Given the description of an element on the screen output the (x, y) to click on. 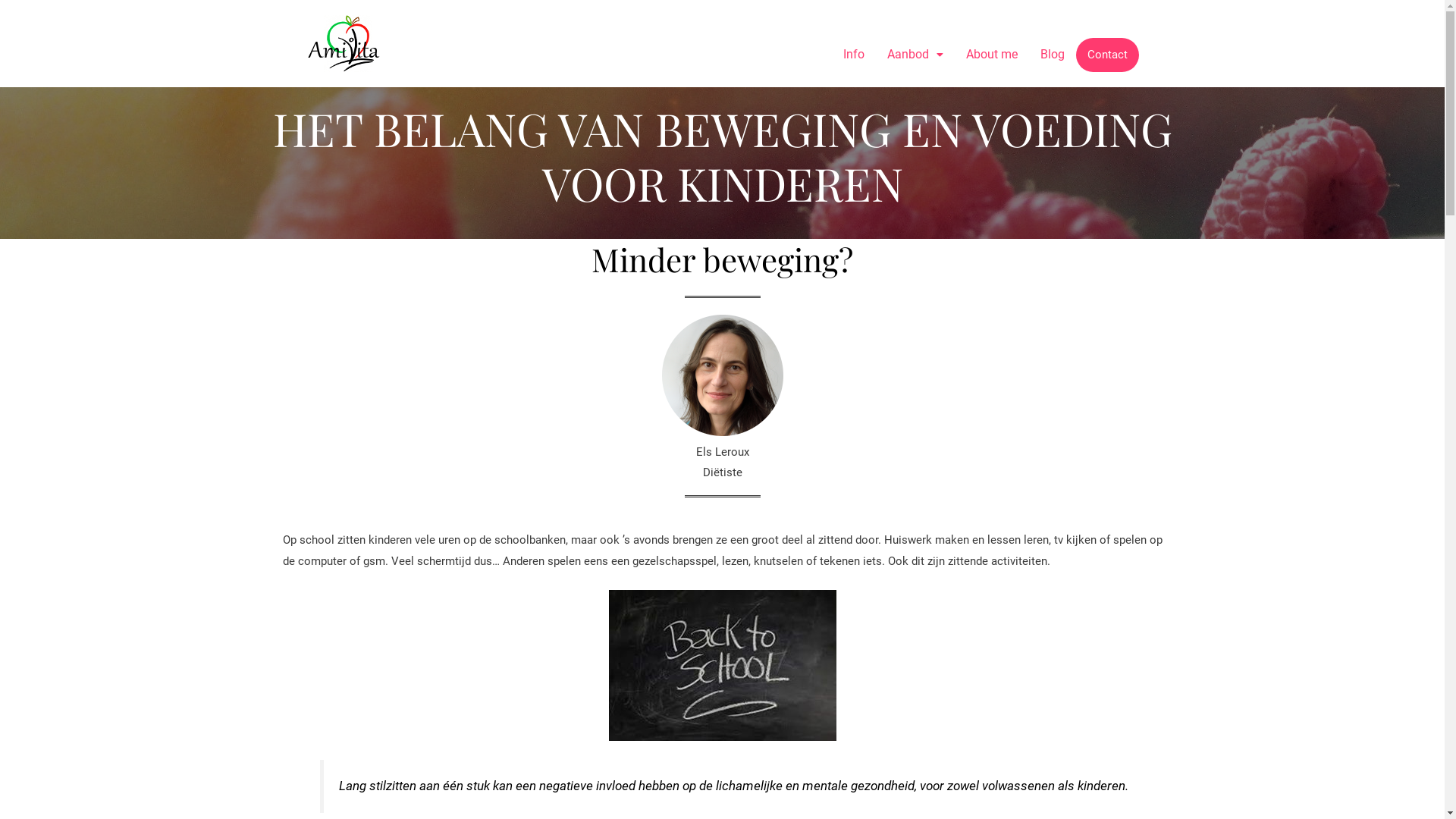
Info Element type: text (853, 54)
Blog Element type: text (1052, 54)
About me Element type: text (991, 54)
Contact Element type: text (1107, 54)
Aanbod Element type: text (914, 54)
